Given the description of an element on the screen output the (x, y) to click on. 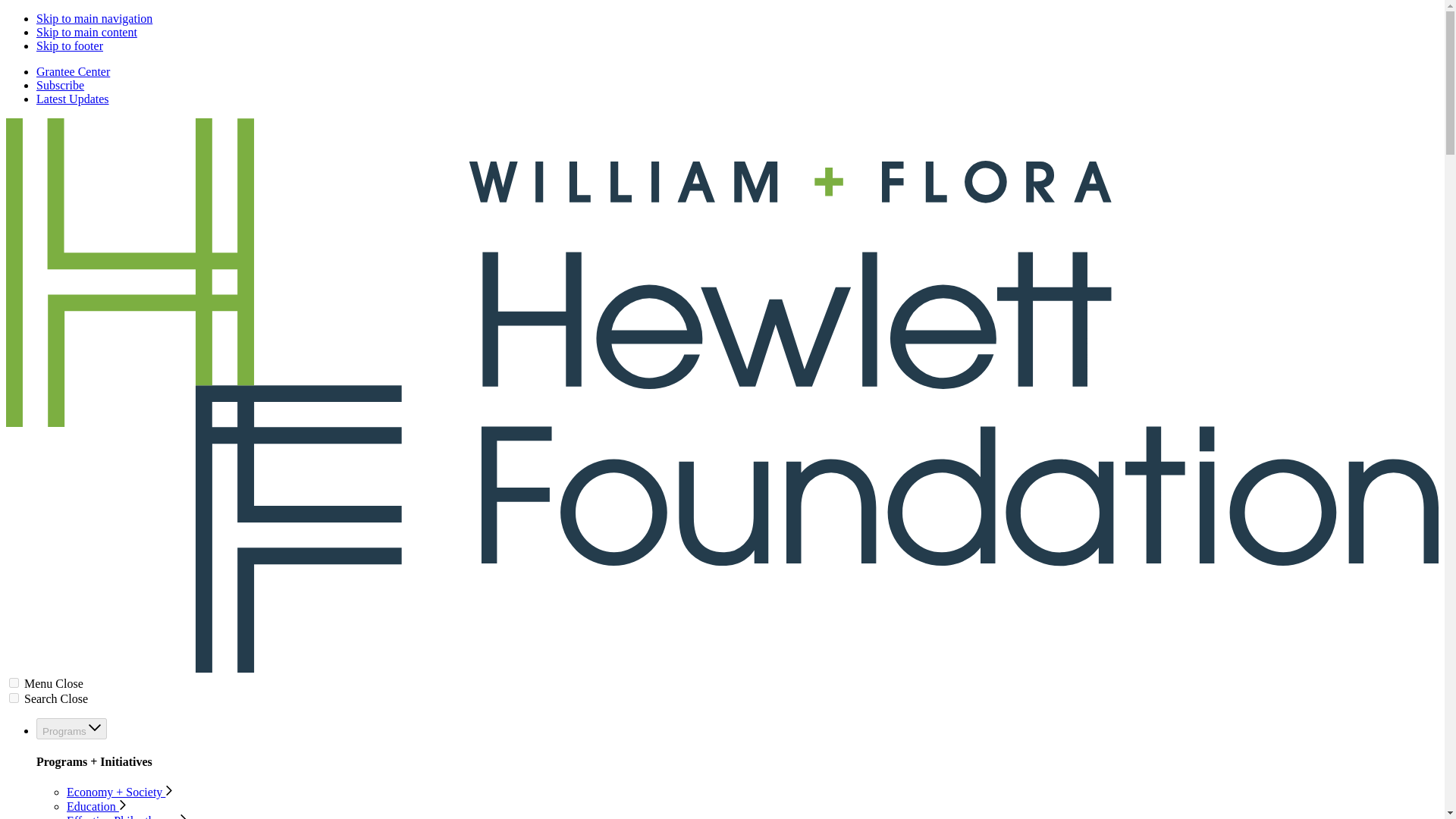
Skip to main navigation (94, 18)
Education (96, 806)
Subscribe (60, 84)
on (13, 697)
Effective Philanthropy (126, 816)
Latest Updates (72, 98)
Skip to footer (69, 45)
Grantee Center (73, 71)
Skip to main content (86, 31)
on (13, 682)
Programs (71, 728)
